Given the description of an element on the screen output the (x, y) to click on. 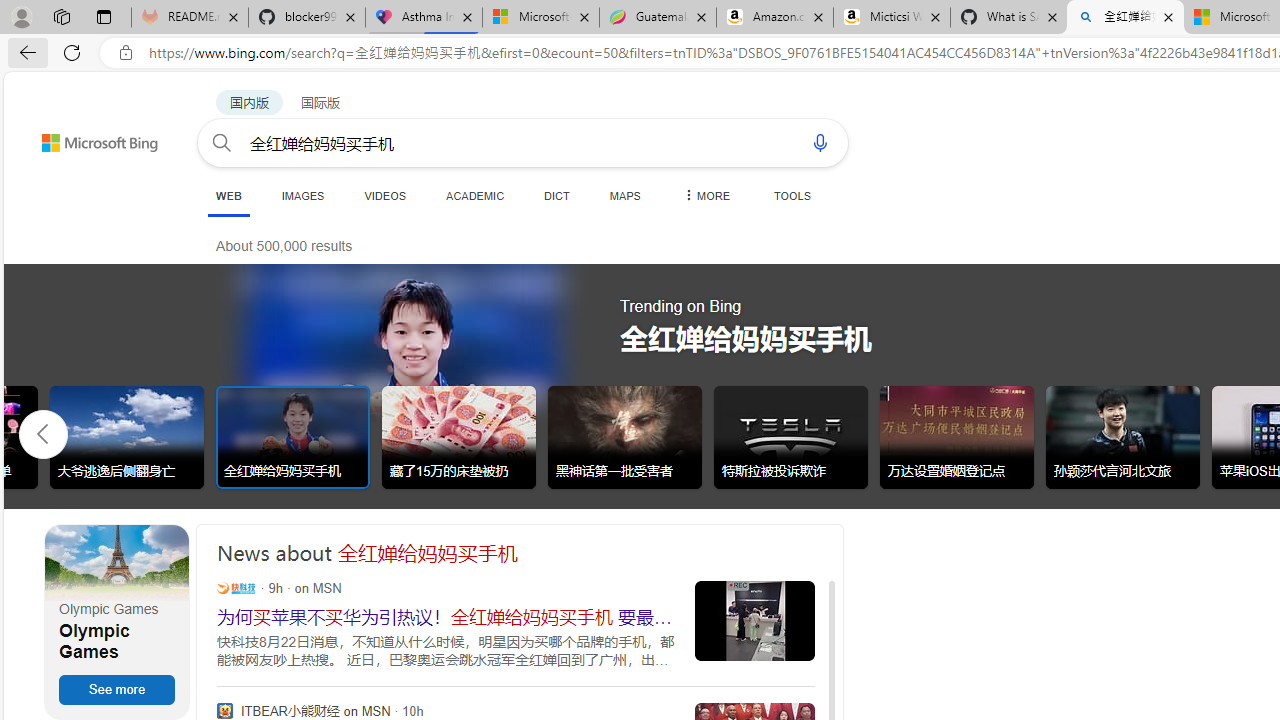
Olympic Games Olympic Games See more (116, 621)
WEB (228, 195)
VIDEOS (384, 195)
AutomationID: tob_left_arrow (43, 433)
WEB (228, 196)
TOOLS (792, 195)
TOOLS (792, 195)
DICT (557, 195)
Back to Bing search (87, 138)
